Given the description of an element on the screen output the (x, y) to click on. 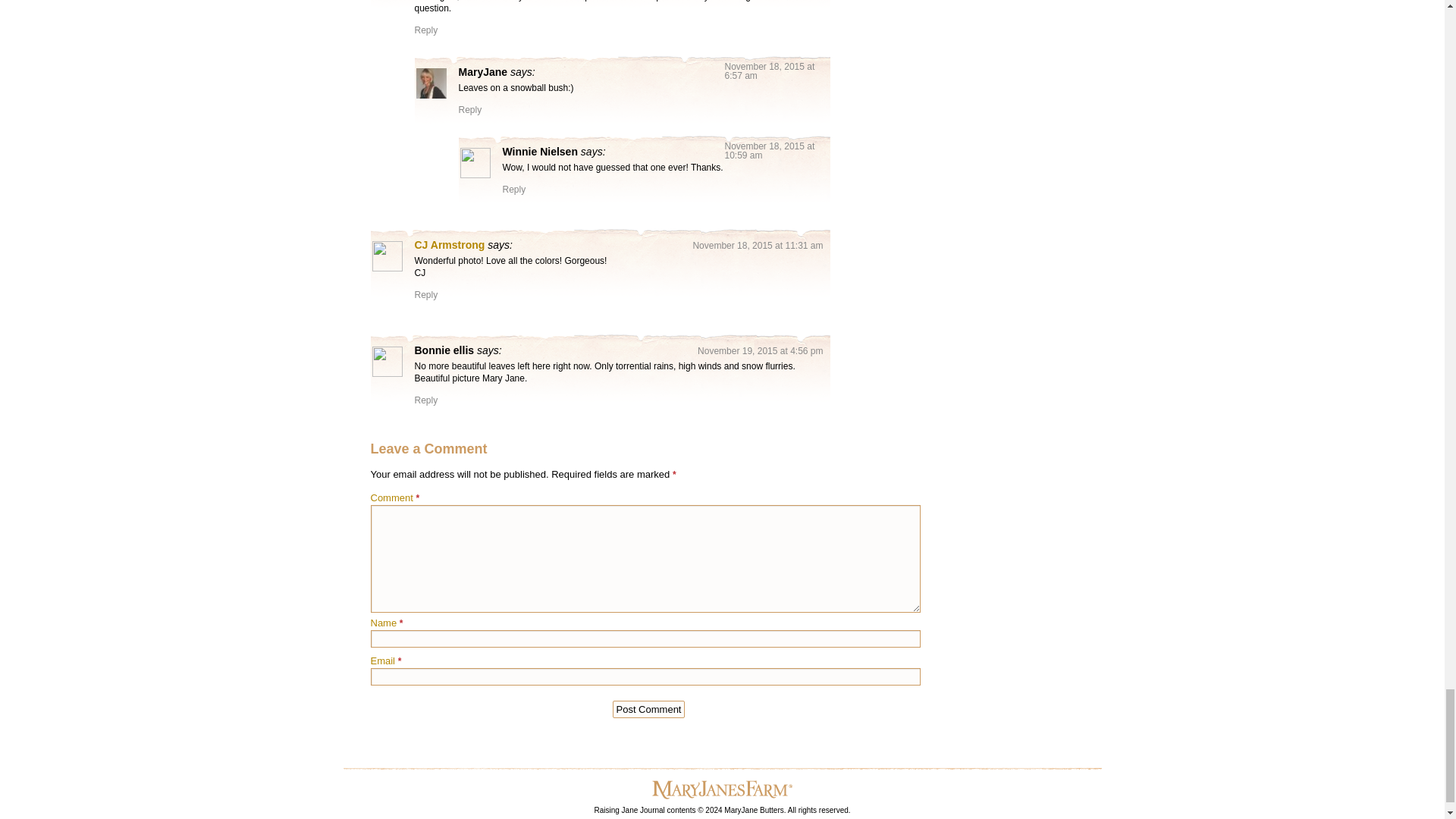
Post Comment (648, 709)
